Given the description of an element on the screen output the (x, y) to click on. 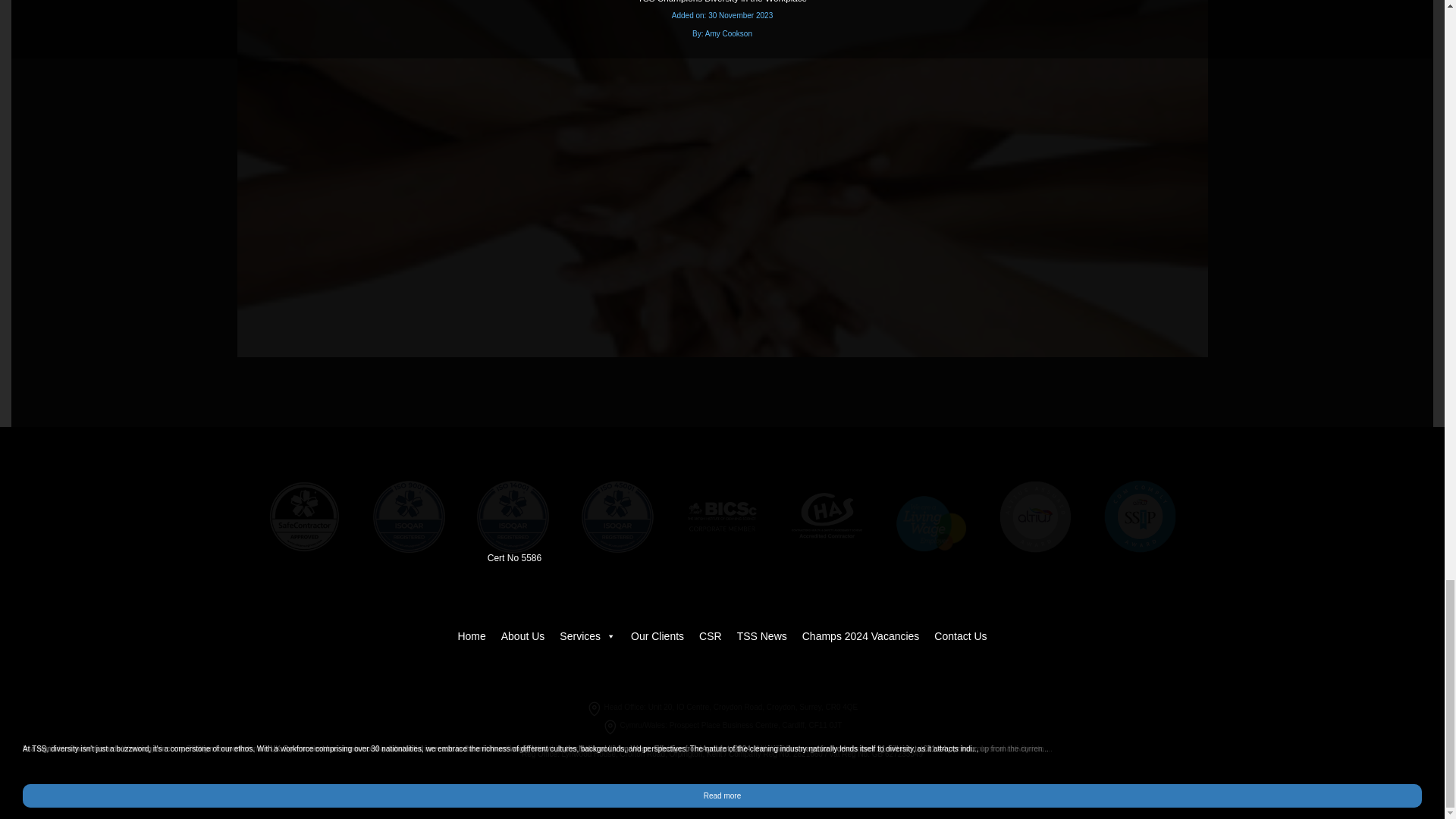
Home (471, 635)
TSS News (761, 635)
Read more (722, 795)
Champs 2024 Vacancies (860, 635)
CSR (710, 635)
About Us (523, 635)
Contact Us (960, 635)
Our Clients (657, 635)
Services (587, 635)
